Given the description of an element on the screen output the (x, y) to click on. 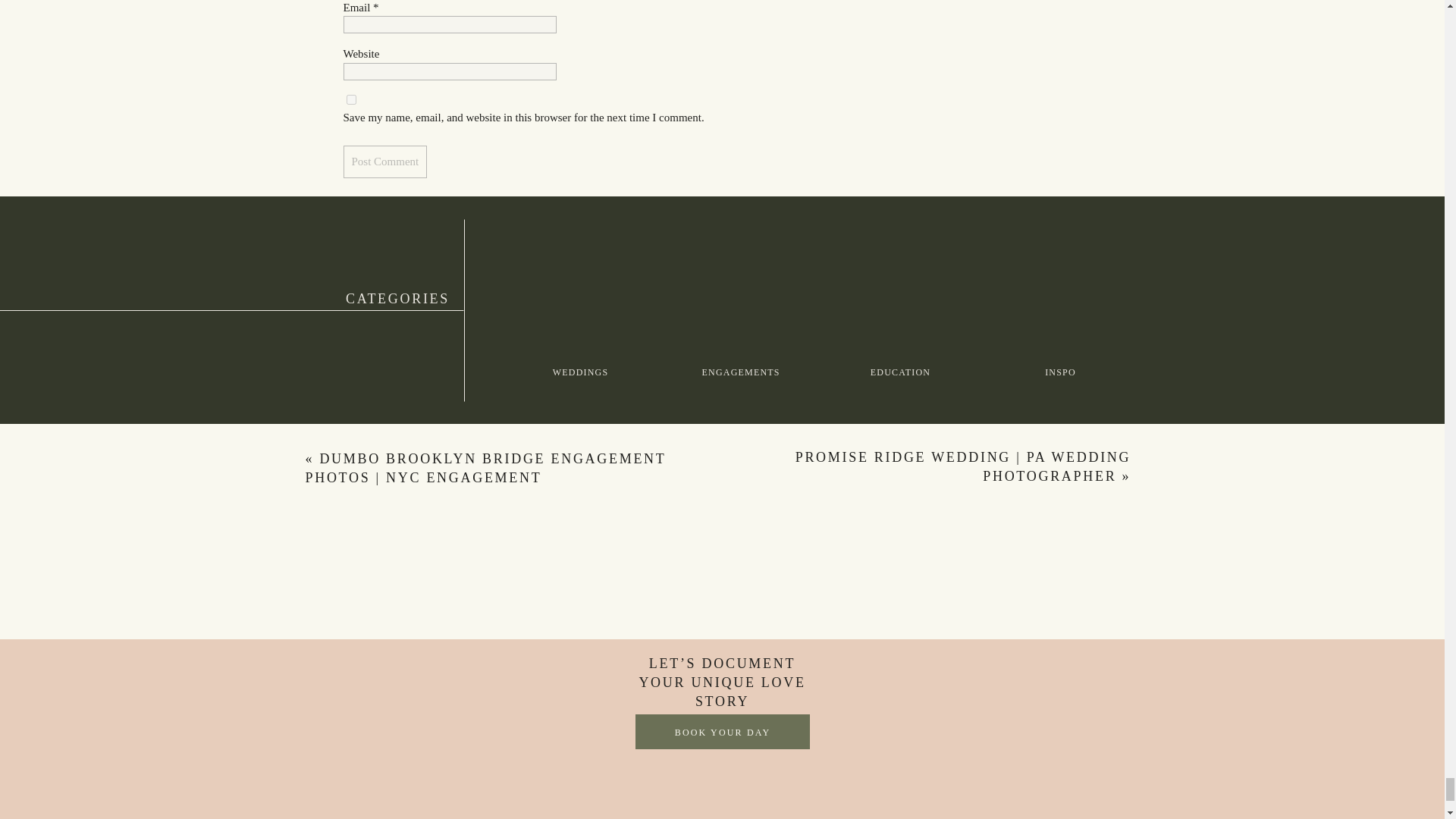
INSPO (1060, 372)
Post Comment (384, 161)
Post Comment (384, 161)
yes (350, 99)
WEDDINGS (579, 372)
